Given the description of an element on the screen output the (x, y) to click on. 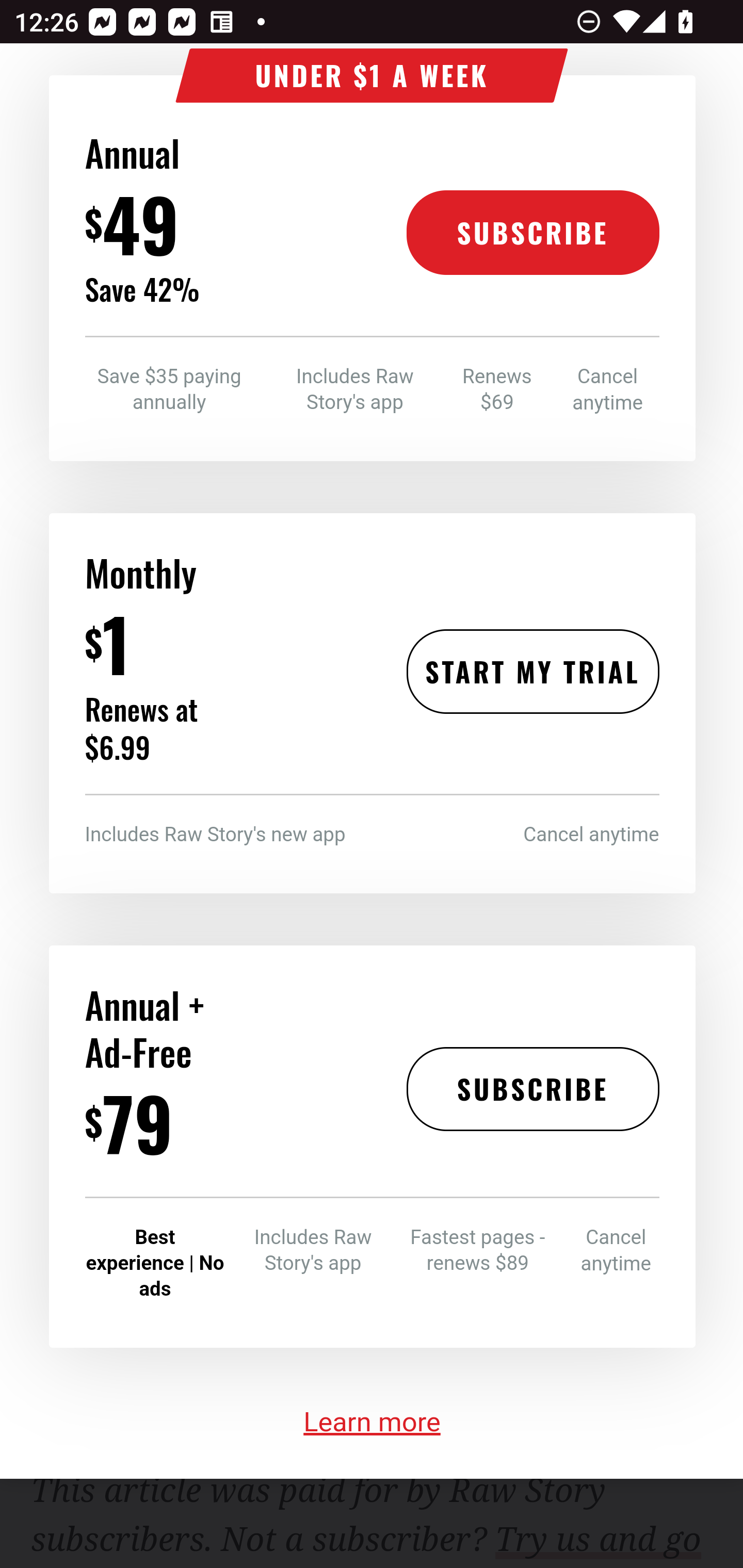
SUBSCRIBE (532, 234)
START MY TRIAL (532, 673)
SUBSCRIBE (532, 1090)
Learn more (372, 1422)
